Given the description of an element on the screen output the (x, y) to click on. 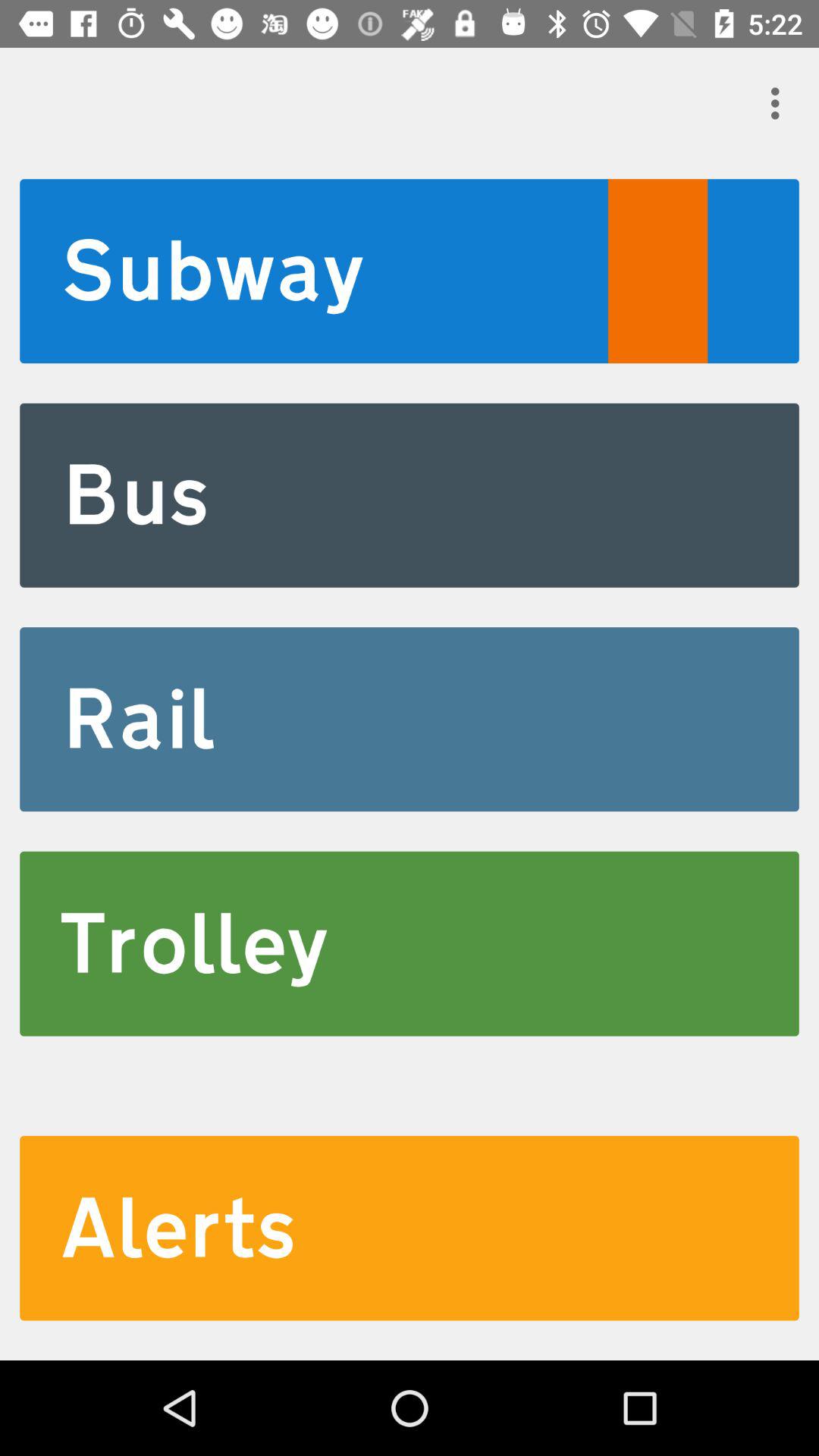
choose item at the top right corner (779, 103)
